Given the description of an element on the screen output the (x, y) to click on. 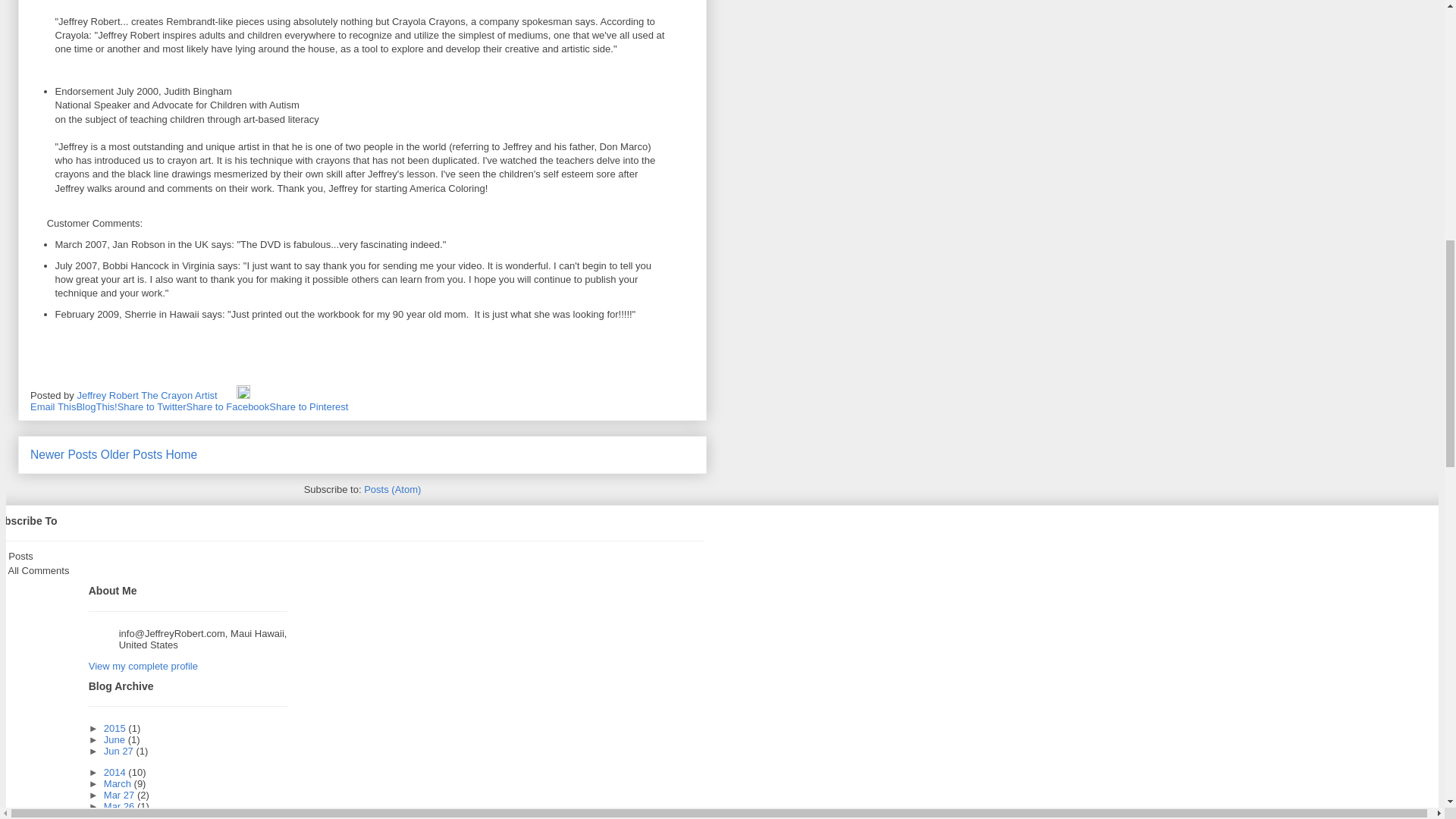
Share to Facebook (227, 406)
Home (181, 454)
Share to Facebook (227, 406)
Email This (52, 406)
Jeffrey Robert The Crayon Artist (148, 395)
Newer Posts (63, 454)
author profile (148, 395)
View my complete profile (143, 665)
Jun 27 (119, 750)
Older Posts (130, 454)
Email This (52, 406)
BlogThis! (95, 406)
Newer Posts (63, 454)
Email Post (227, 395)
2015 (116, 727)
